Given the description of an element on the screen output the (x, y) to click on. 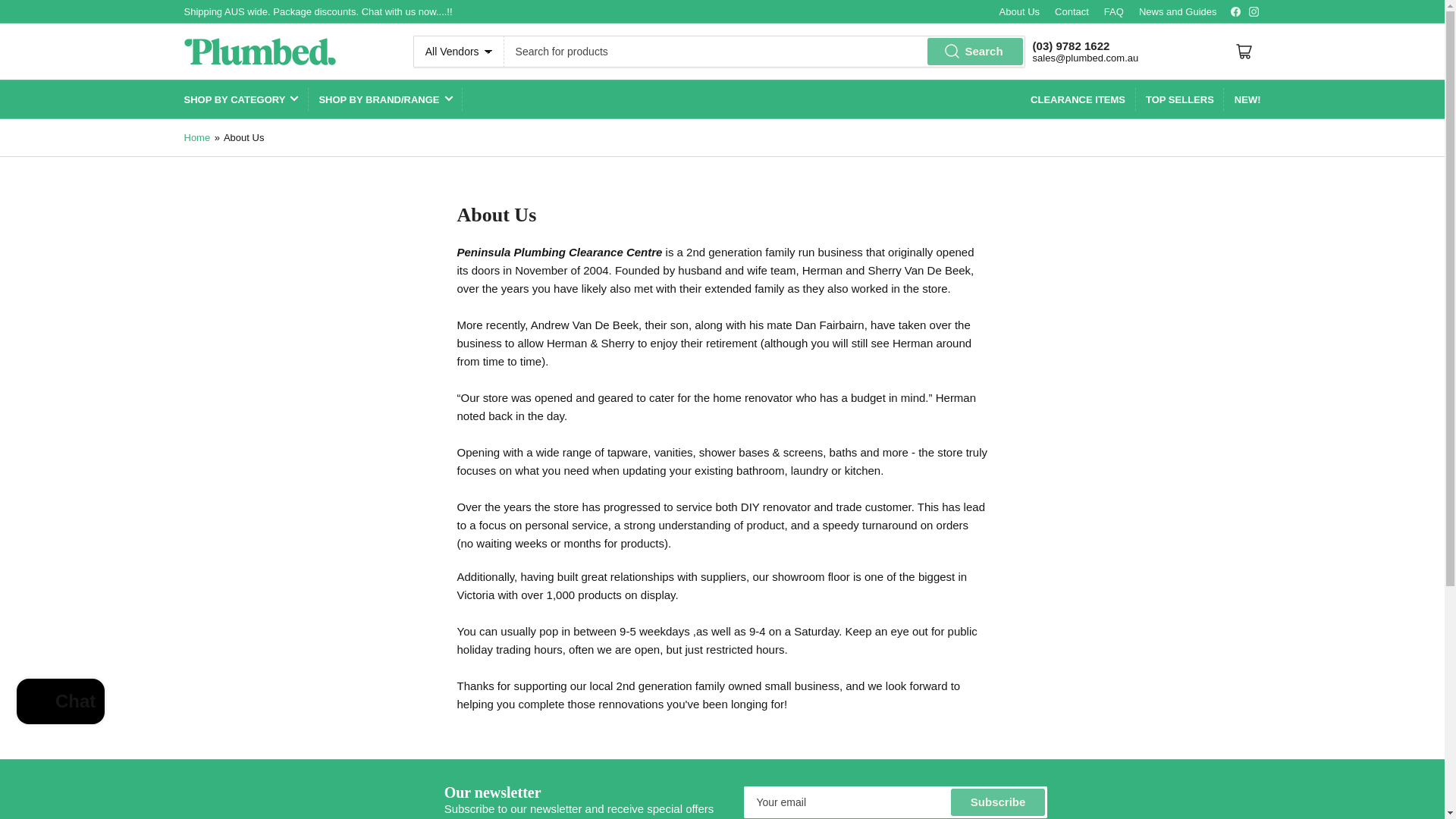
About Us (1018, 11)
Instagram (1253, 11)
Search (975, 51)
Facebook (1235, 11)
FAQ (1113, 11)
Open mini cart (1243, 51)
Shopify online store chat (60, 703)
News and Guides (1177, 11)
Contact (1071, 11)
